Given the description of an element on the screen output the (x, y) to click on. 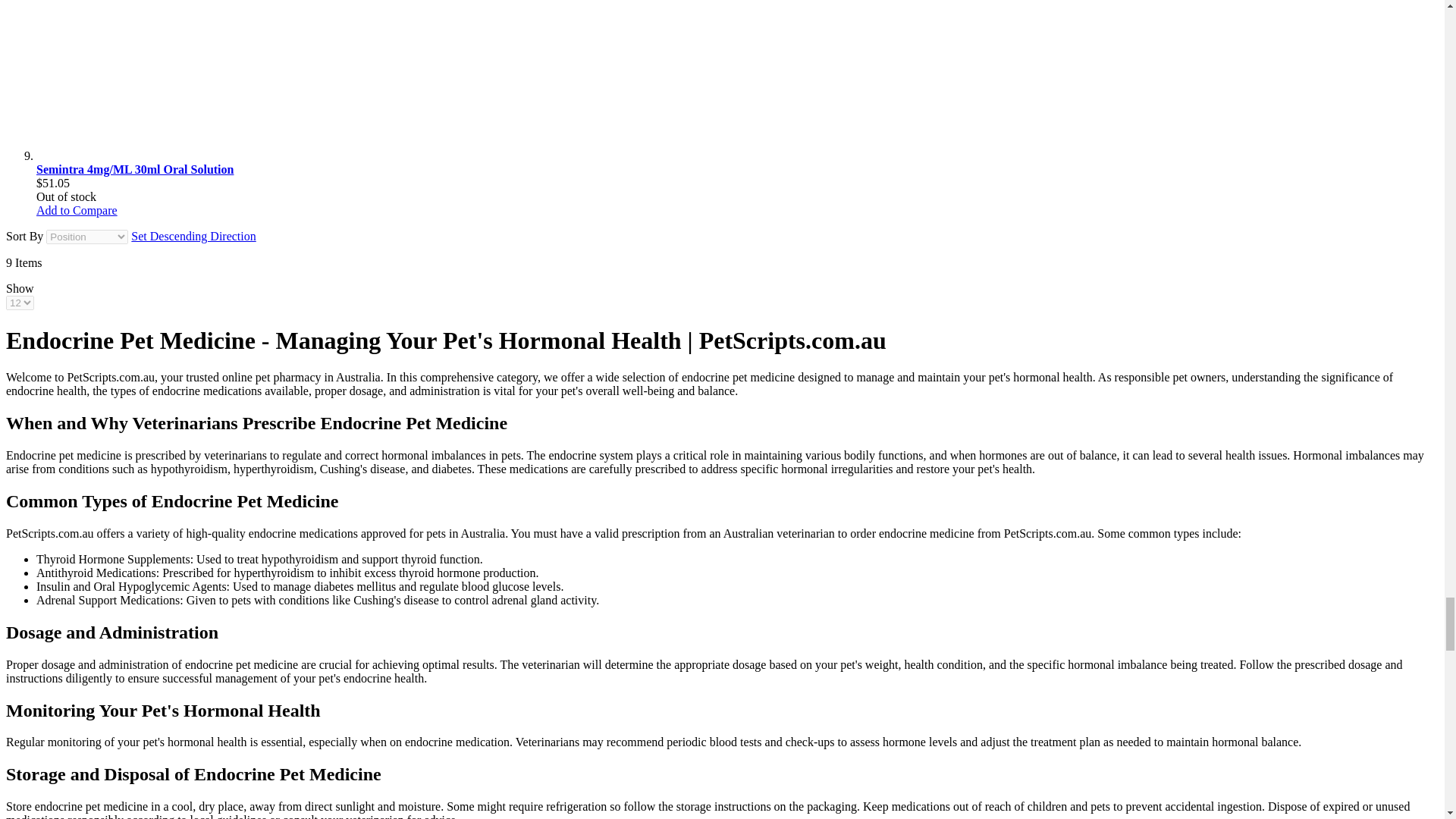
Add to Compare (76, 210)
